Given the description of an element on the screen output the (x, y) to click on. 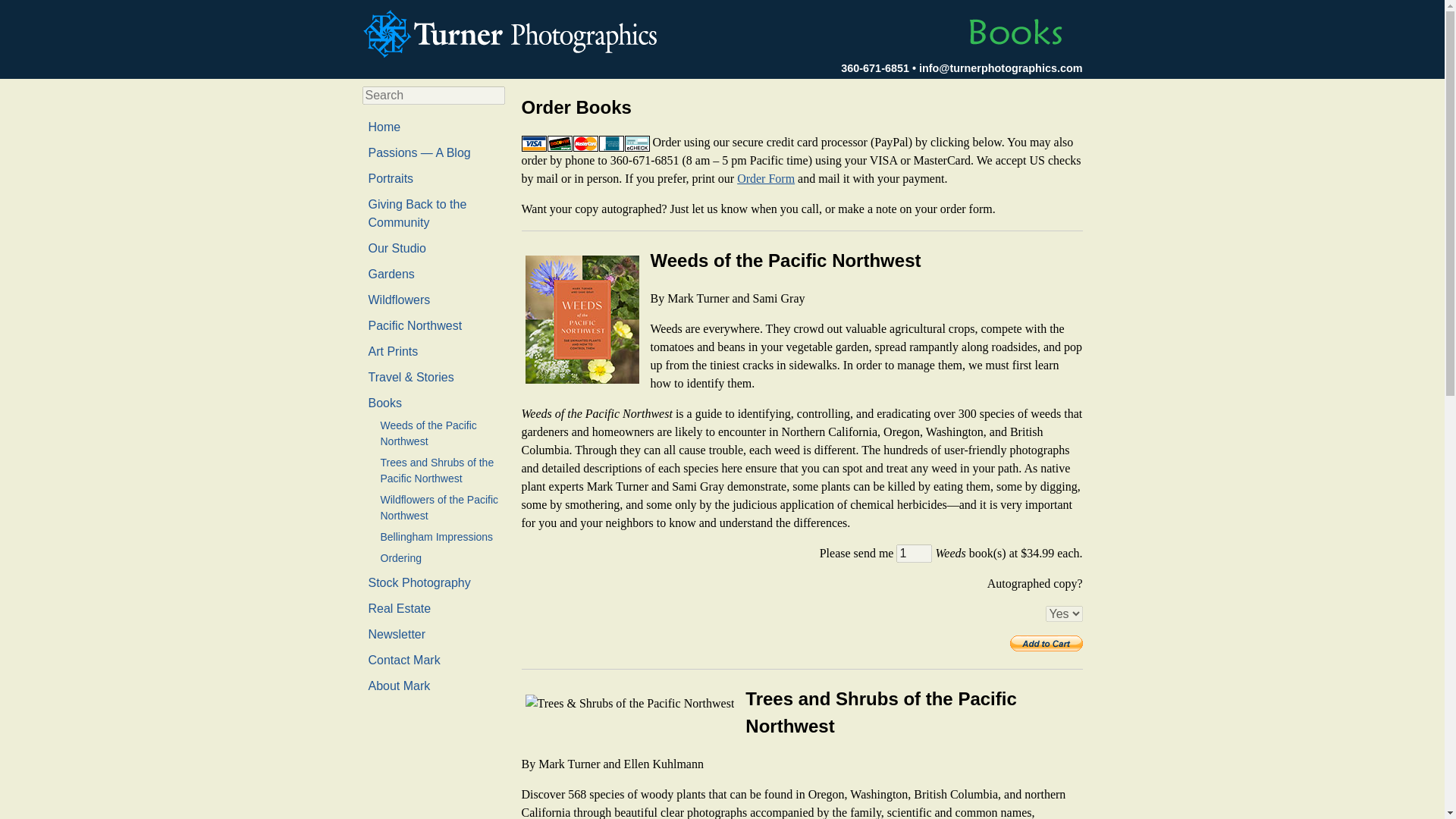
Portraits (390, 178)
Search (21, 11)
Turner Photographics (513, 31)
Order Form (765, 178)
1 (913, 553)
Turner Photographics (513, 33)
Home (384, 126)
360-671-6851 (874, 68)
